Given the description of an element on the screen output the (x, y) to click on. 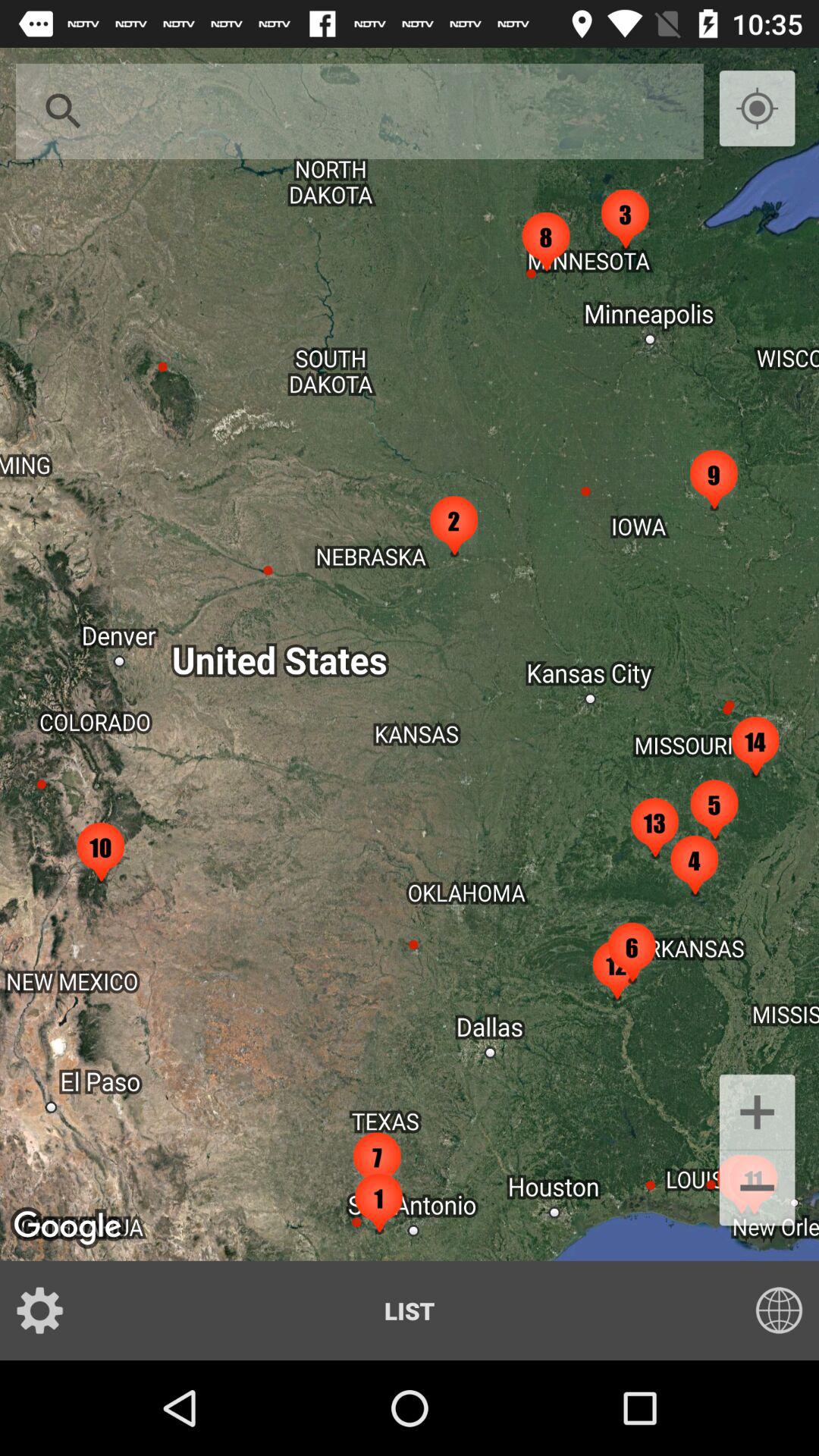
launch icon at the top left corner (63, 111)
